Given the description of an element on the screen output the (x, y) to click on. 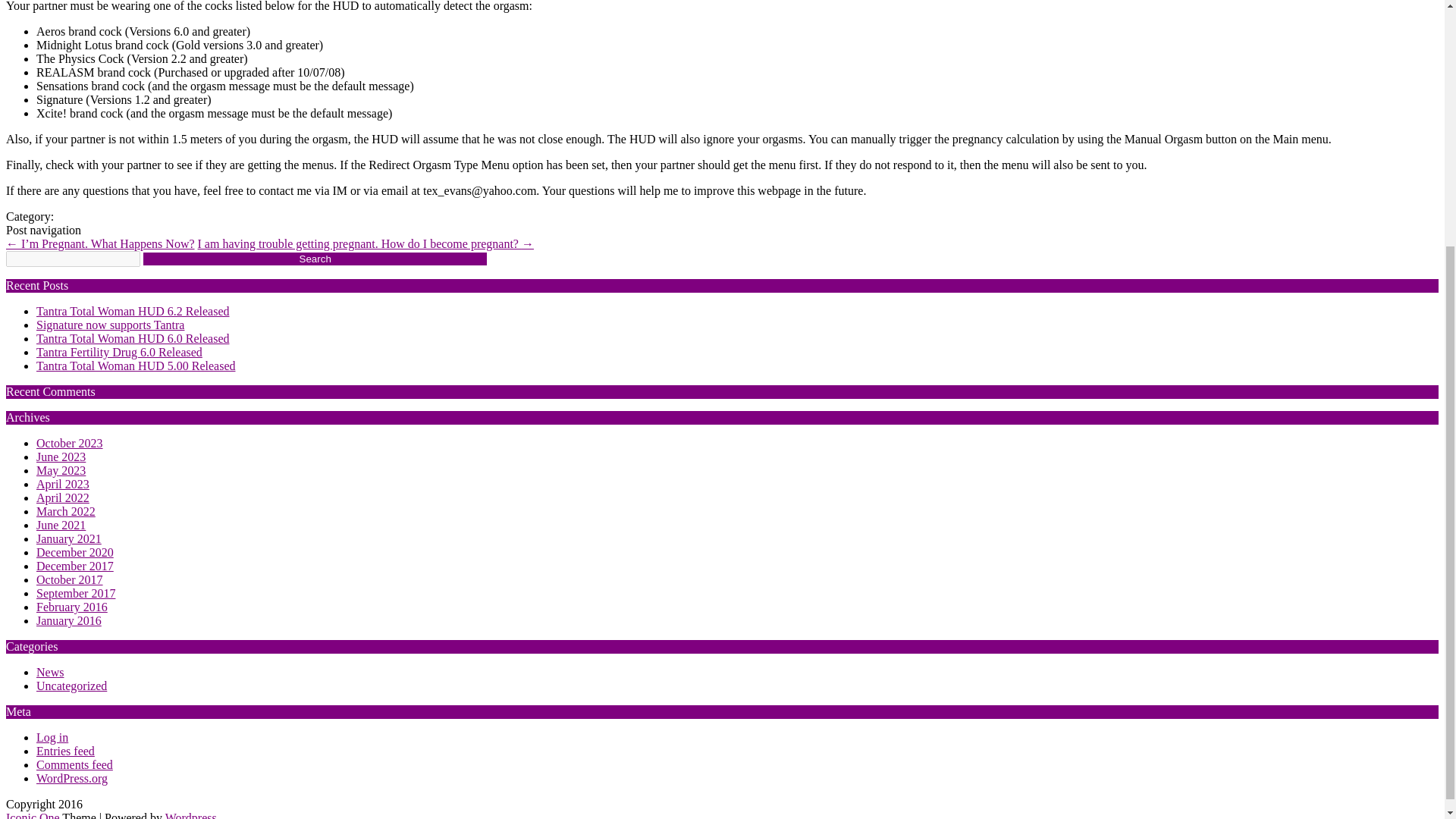
Log in (52, 737)
December 2020 (74, 552)
Search (314, 258)
June 2021 (60, 524)
WordPress.org (71, 778)
January 2016 (68, 620)
September 2017 (75, 593)
April 2023 (62, 483)
Entries feed (65, 750)
February 2016 (71, 606)
